Given the description of an element on the screen output the (x, y) to click on. 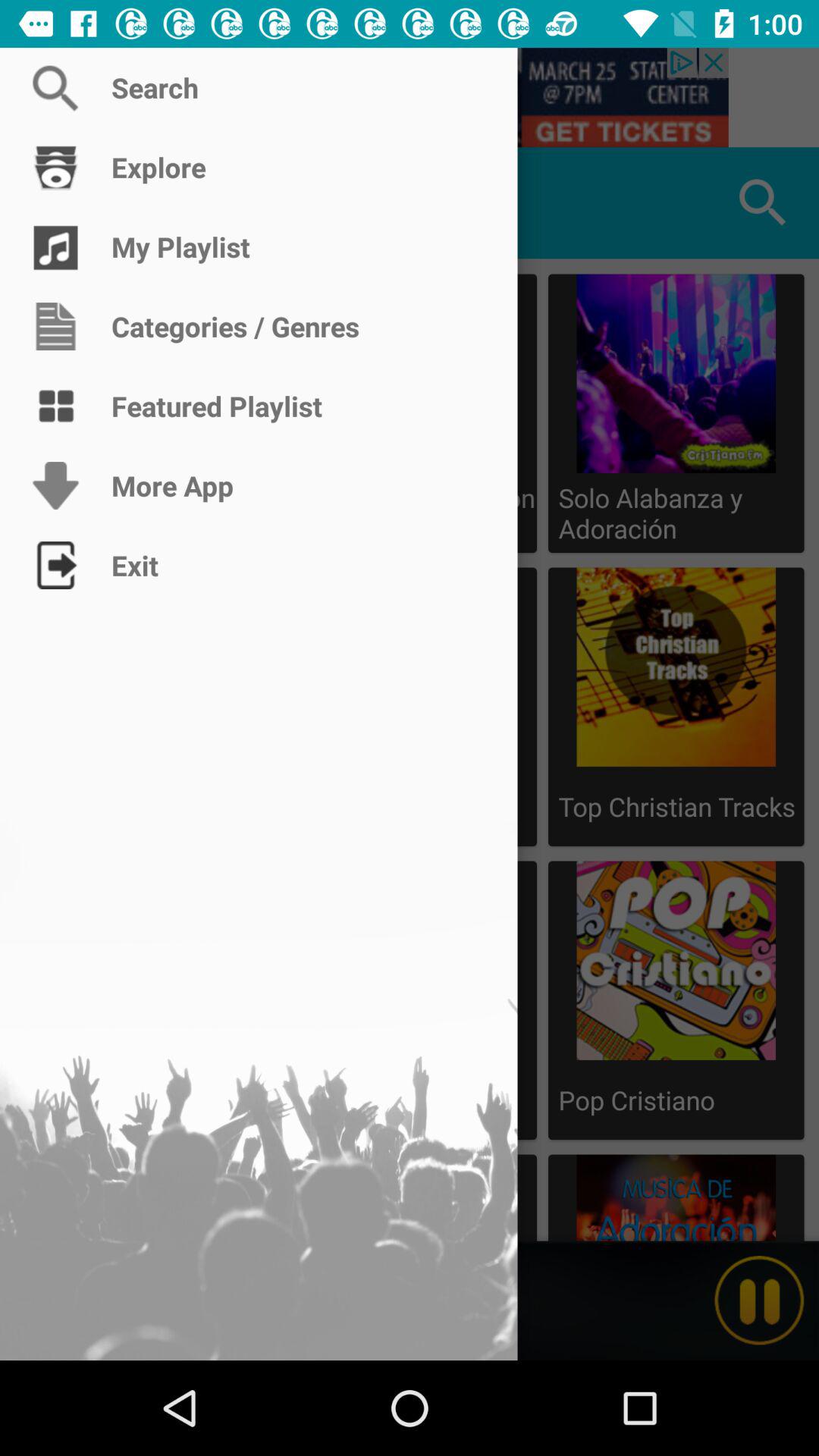
explore songs (55, 202)
